Given the description of an element on the screen output the (x, y) to click on. 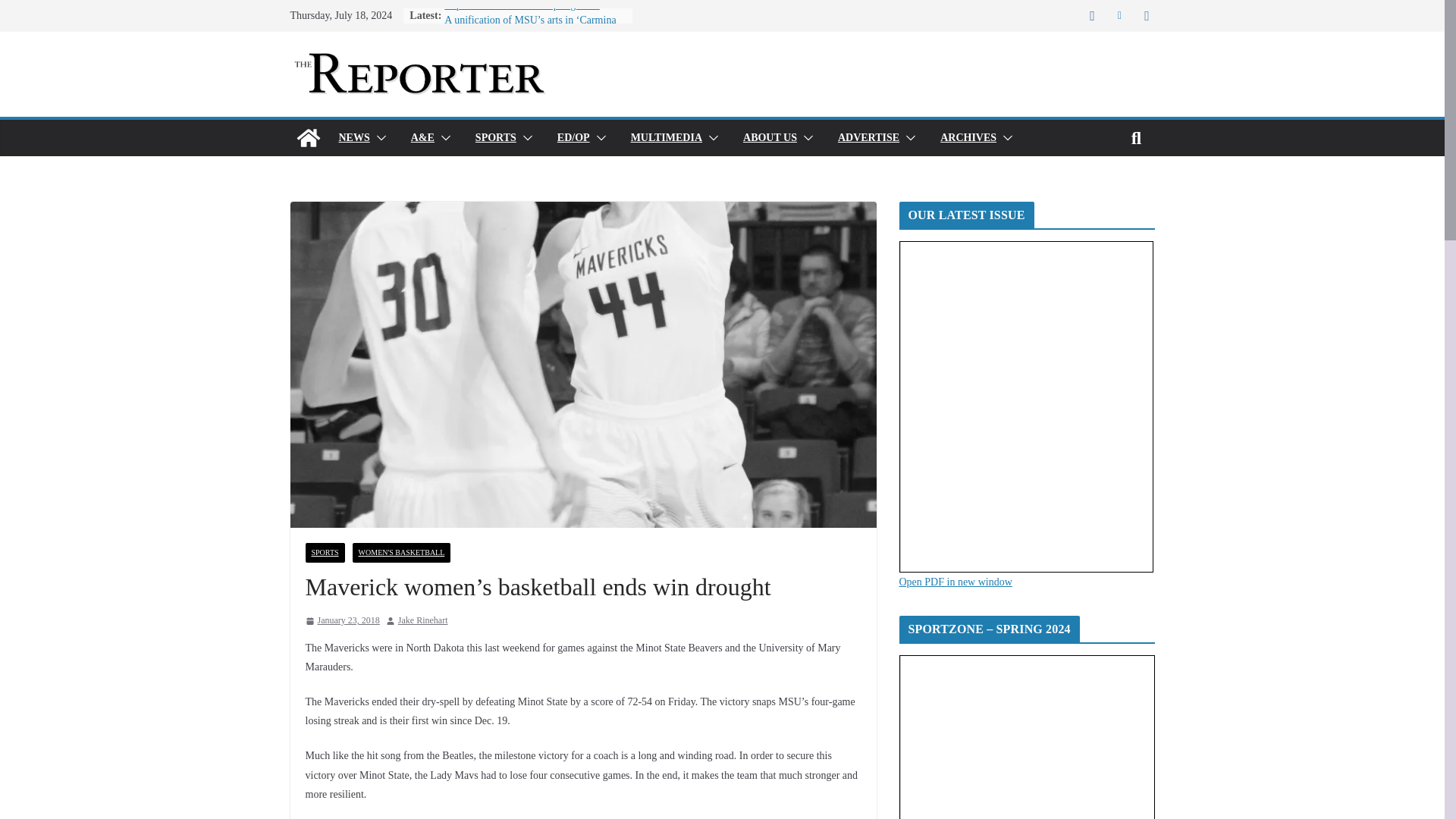
3:15 pm (341, 620)
NEWS (353, 137)
Jake Rinehart (422, 620)
MULTIMEDIA (665, 137)
SPORTS (496, 137)
